Given the description of an element on the screen output the (x, y) to click on. 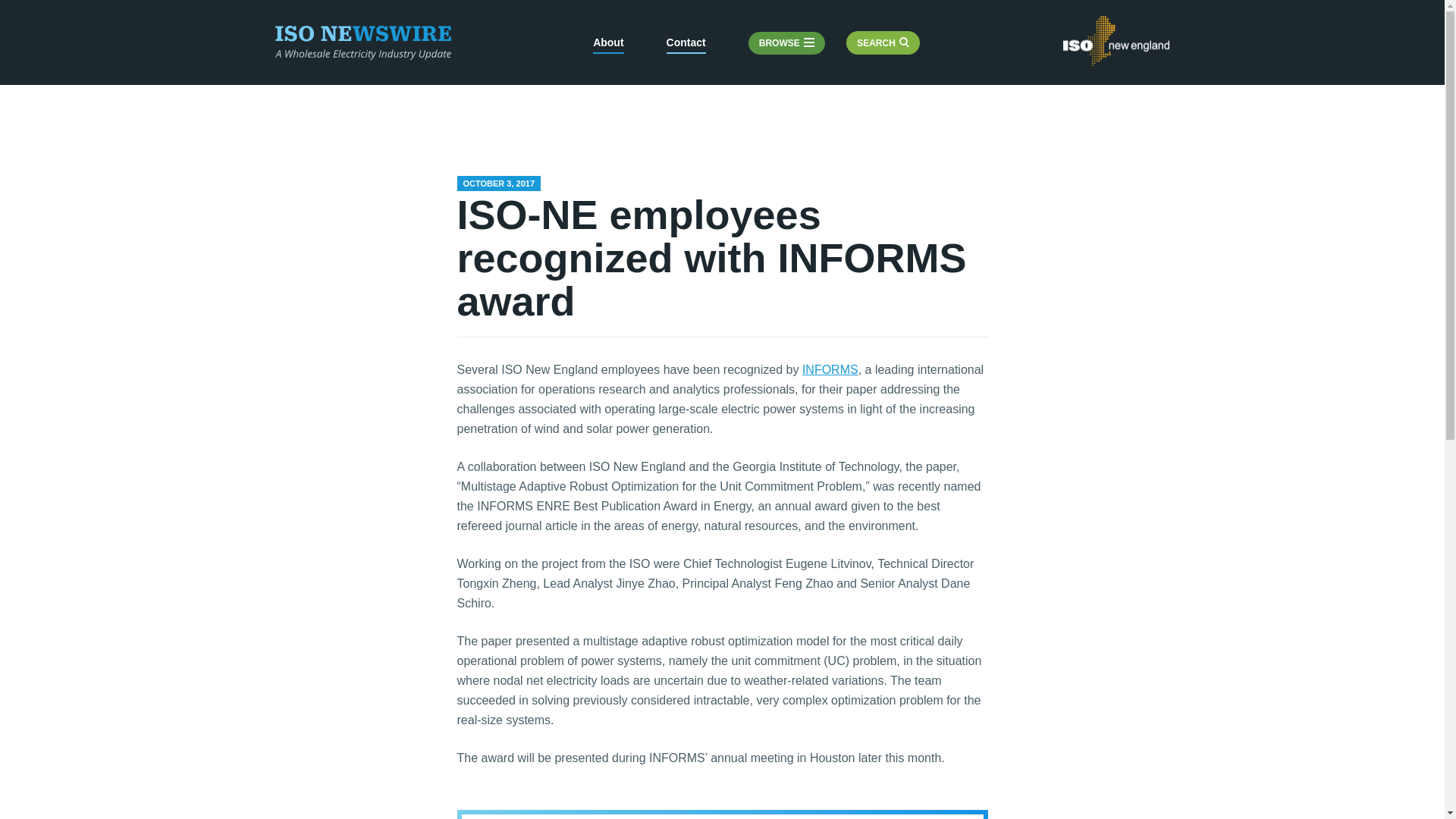
About (607, 45)
Toggle Browse (786, 43)
Contact (686, 45)
SEARCH (882, 43)
Toggle Search (882, 43)
BROWSE (786, 43)
